Given the description of an element on the screen output the (x, y) to click on. 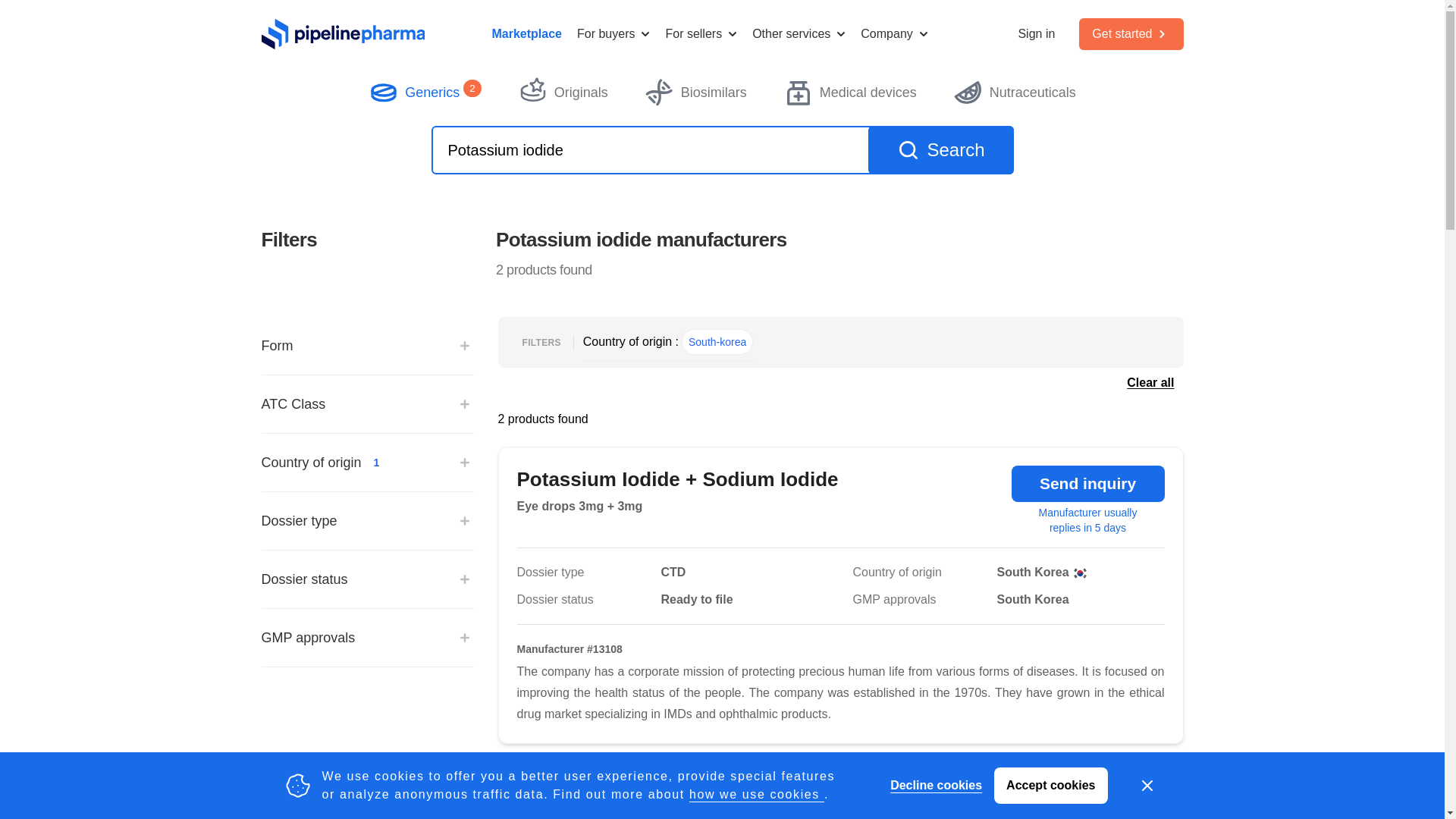
Company (893, 34)
Potassium iodide (721, 150)
PipelinePharma Logo (342, 33)
For sellers (700, 34)
Marketplace (527, 34)
South korea (1079, 573)
Other services (798, 34)
For buyers (612, 34)
Search (940, 150)
Sign in (1035, 34)
